Given the description of an element on the screen output the (x, y) to click on. 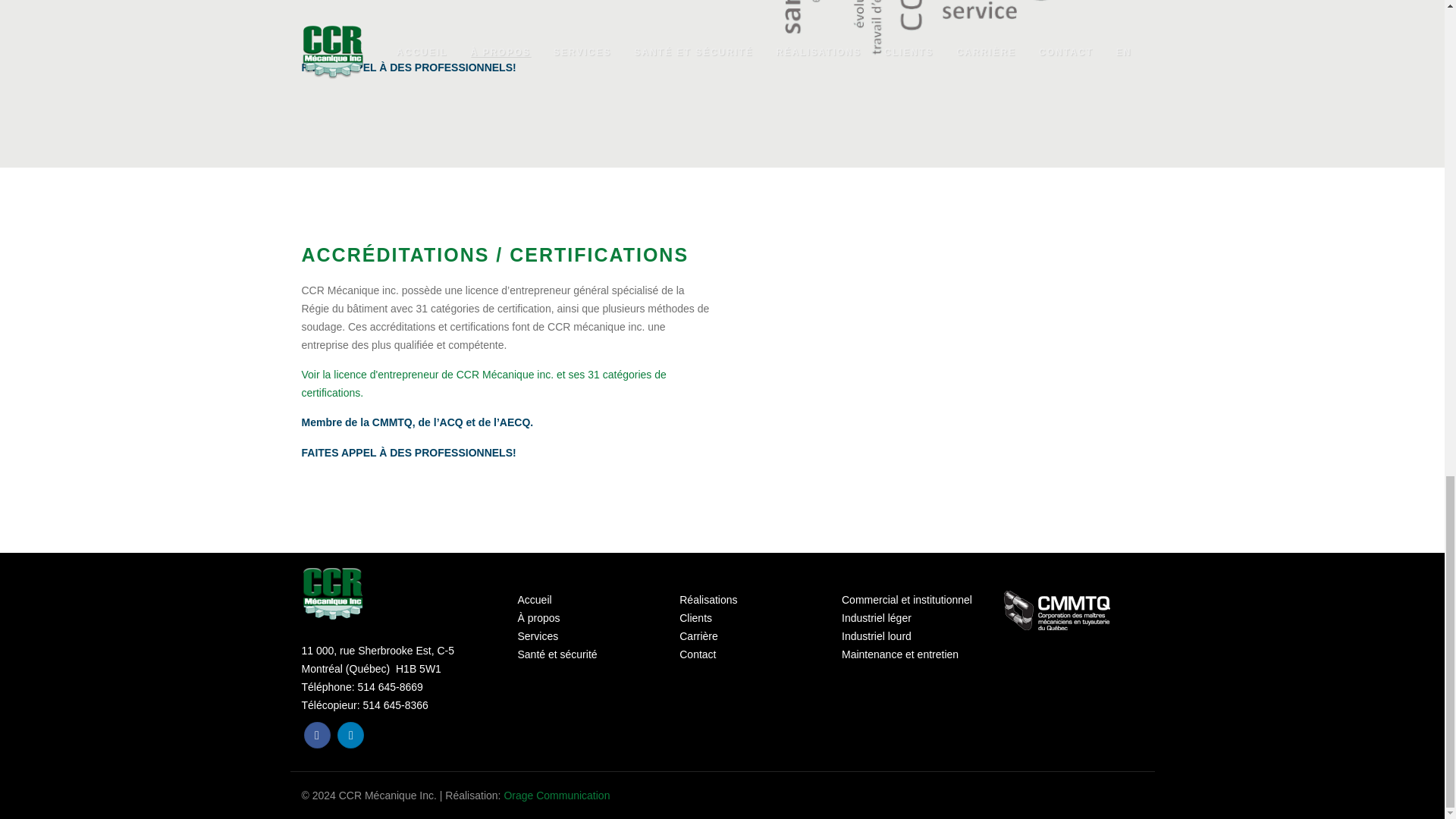
Commercial et institutionnel (906, 599)
Services (536, 635)
Accueil (533, 599)
Contact (697, 654)
Orage Communication (556, 795)
Maintenance et entretien (899, 654)
Clients (695, 617)
Industriel lourd (876, 635)
